Given the description of an element on the screen output the (x, y) to click on. 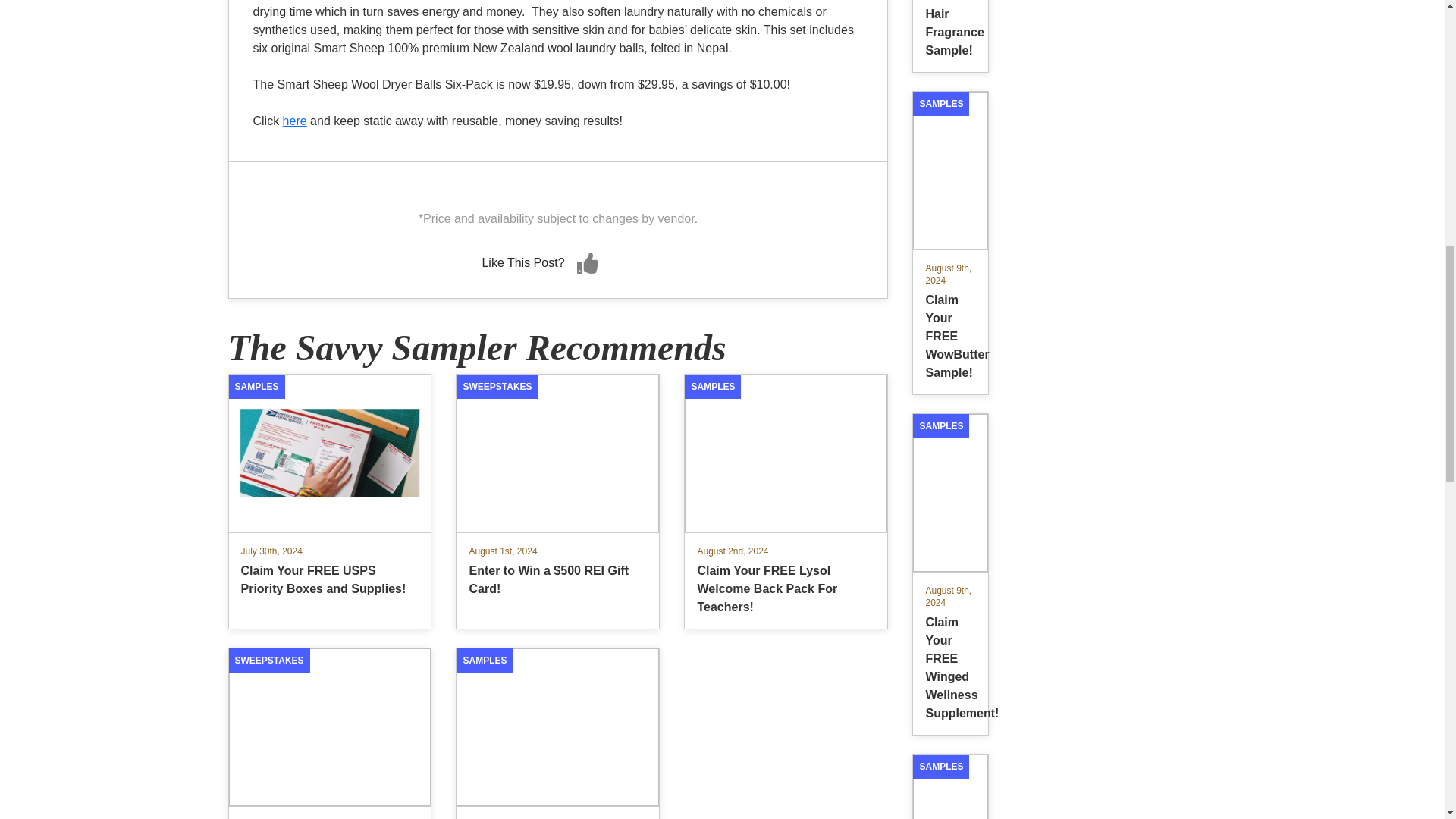
here (950, 777)
